Given the description of an element on the screen output the (x, y) to click on. 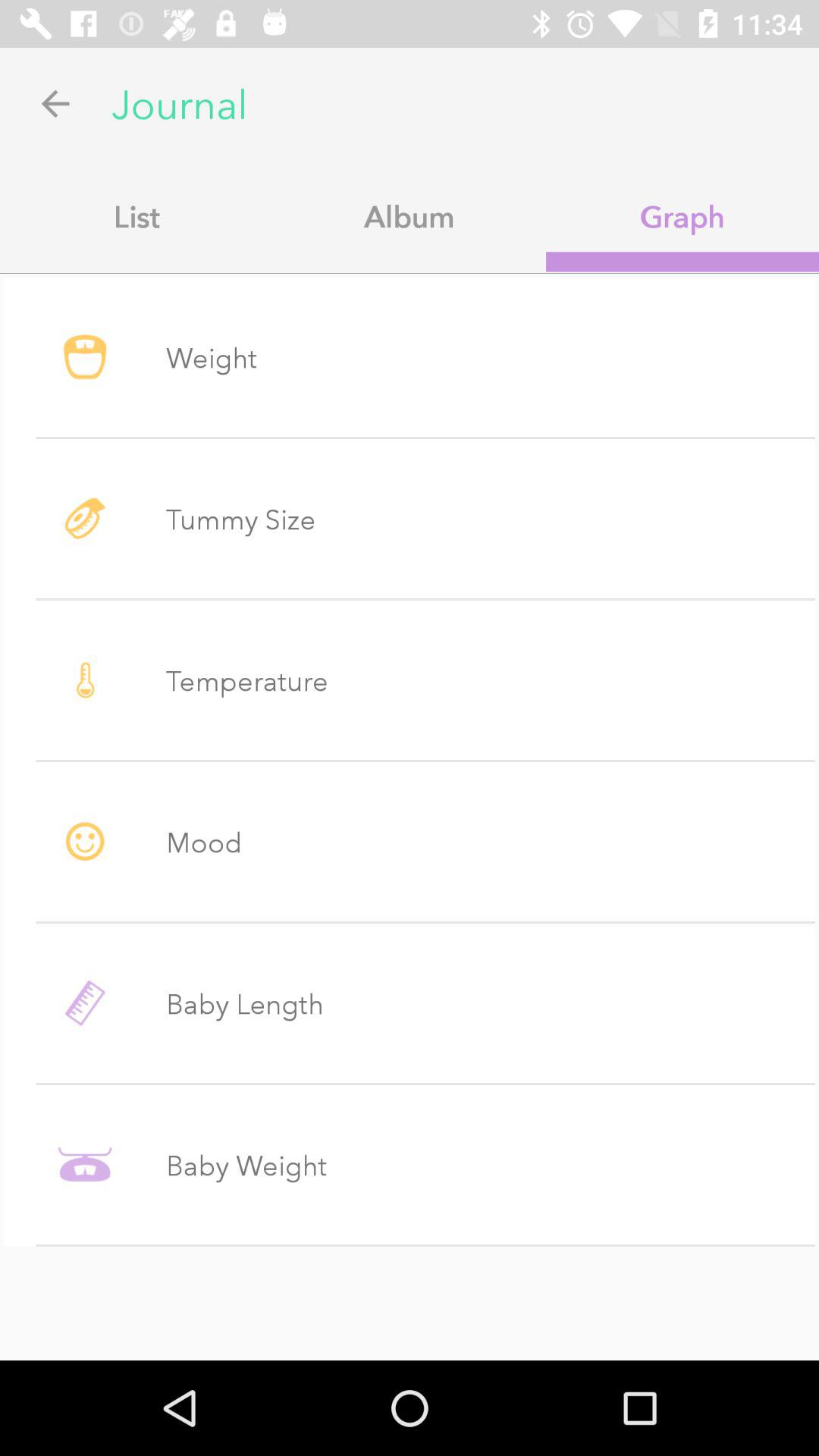
choose the list app (136, 216)
